Given the description of an element on the screen output the (x, y) to click on. 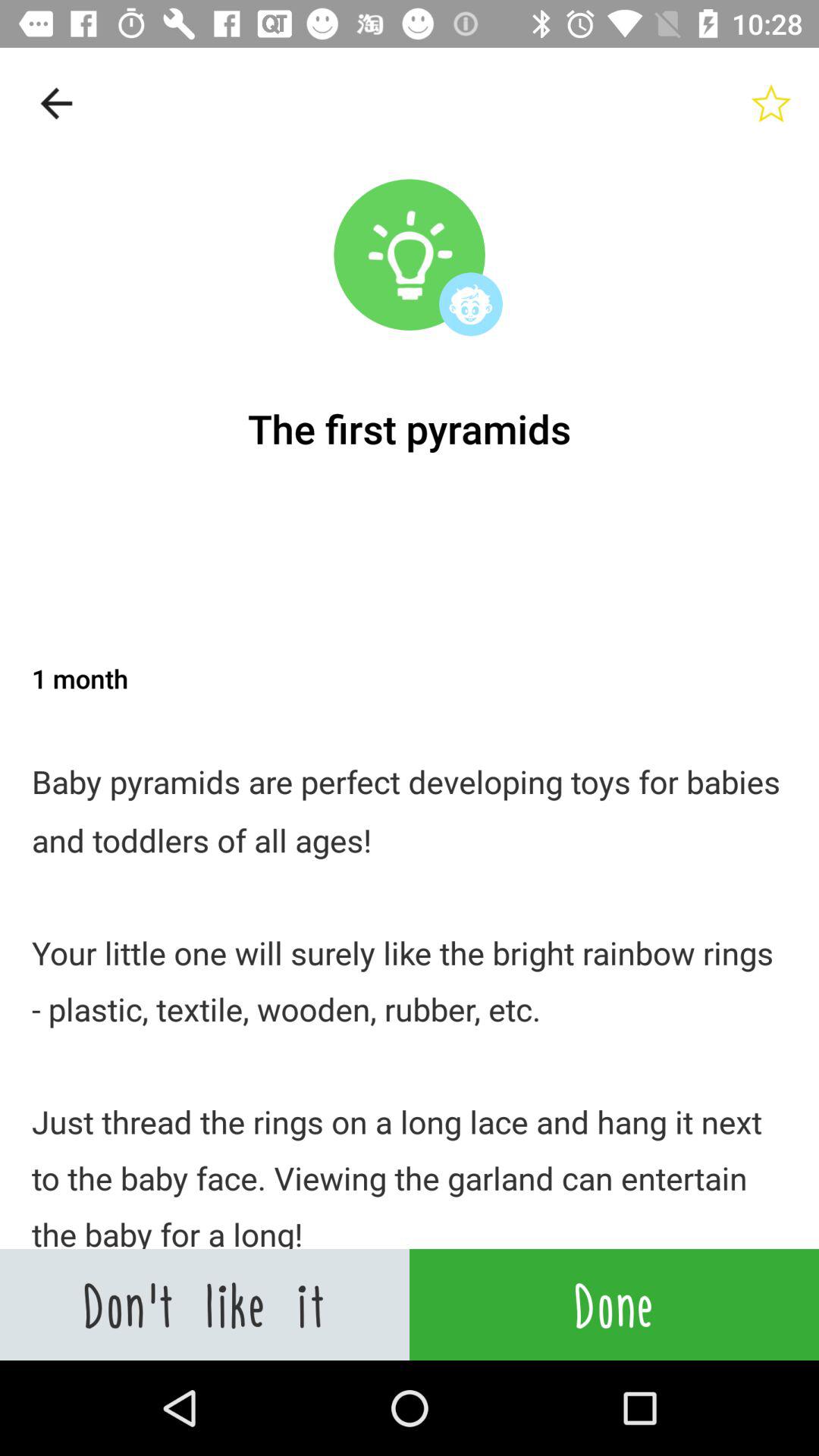
turn on the don t like item (204, 1304)
